Given the description of an element on the screen output the (x, y) to click on. 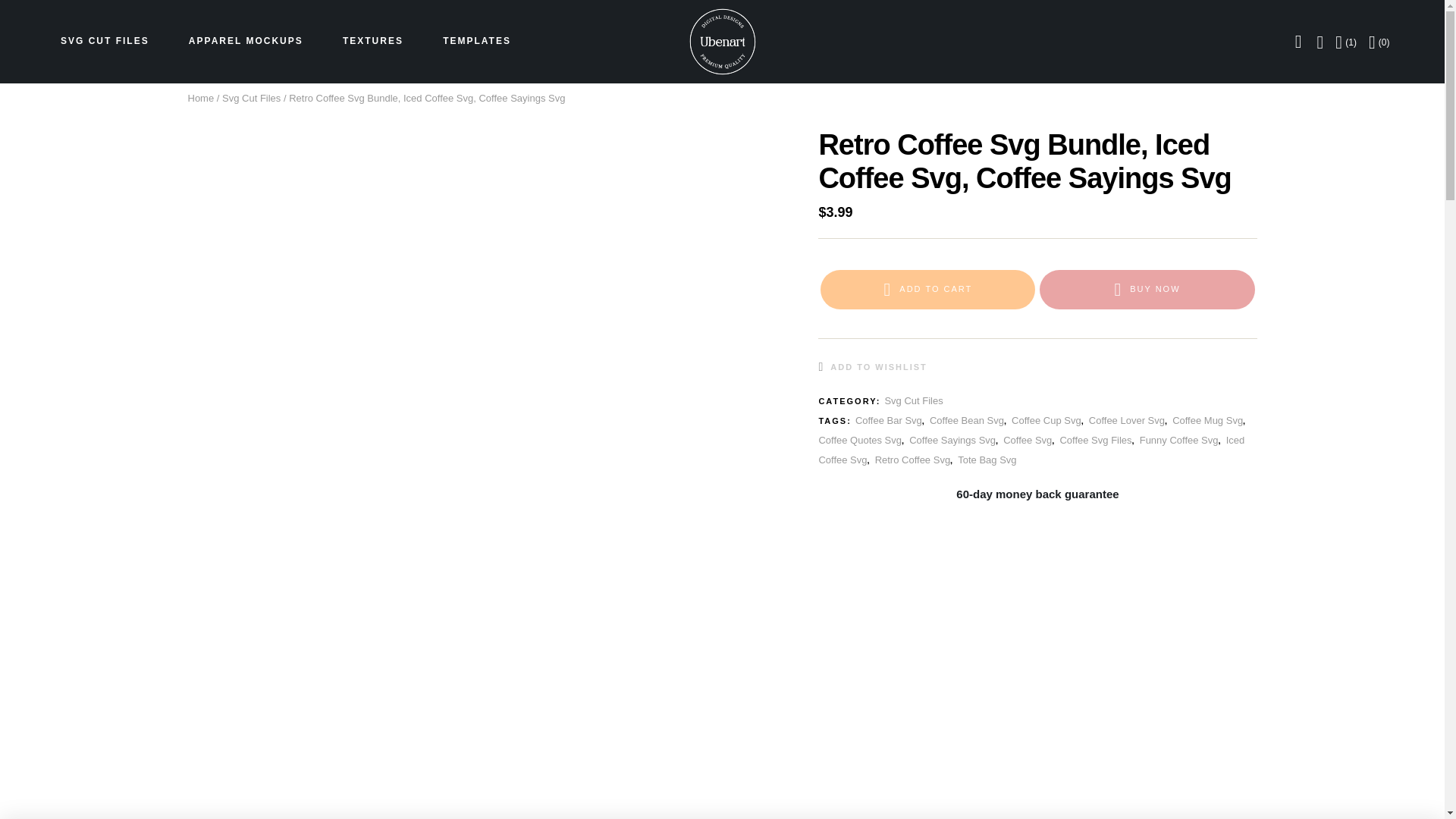
Svg Cut Files (251, 98)
Svg Cut Files (912, 400)
Coffee Bean Svg (967, 419)
SVG CUT FILES (104, 41)
Coffee Quotes Svg (859, 439)
BUY NOW (1146, 289)
Coffee Sayings Svg (951, 439)
Retro Coffee Svg (912, 460)
Iced Coffee Svg (1031, 450)
Tote Bag Svg (987, 460)
